Given the description of an element on the screen output the (x, y) to click on. 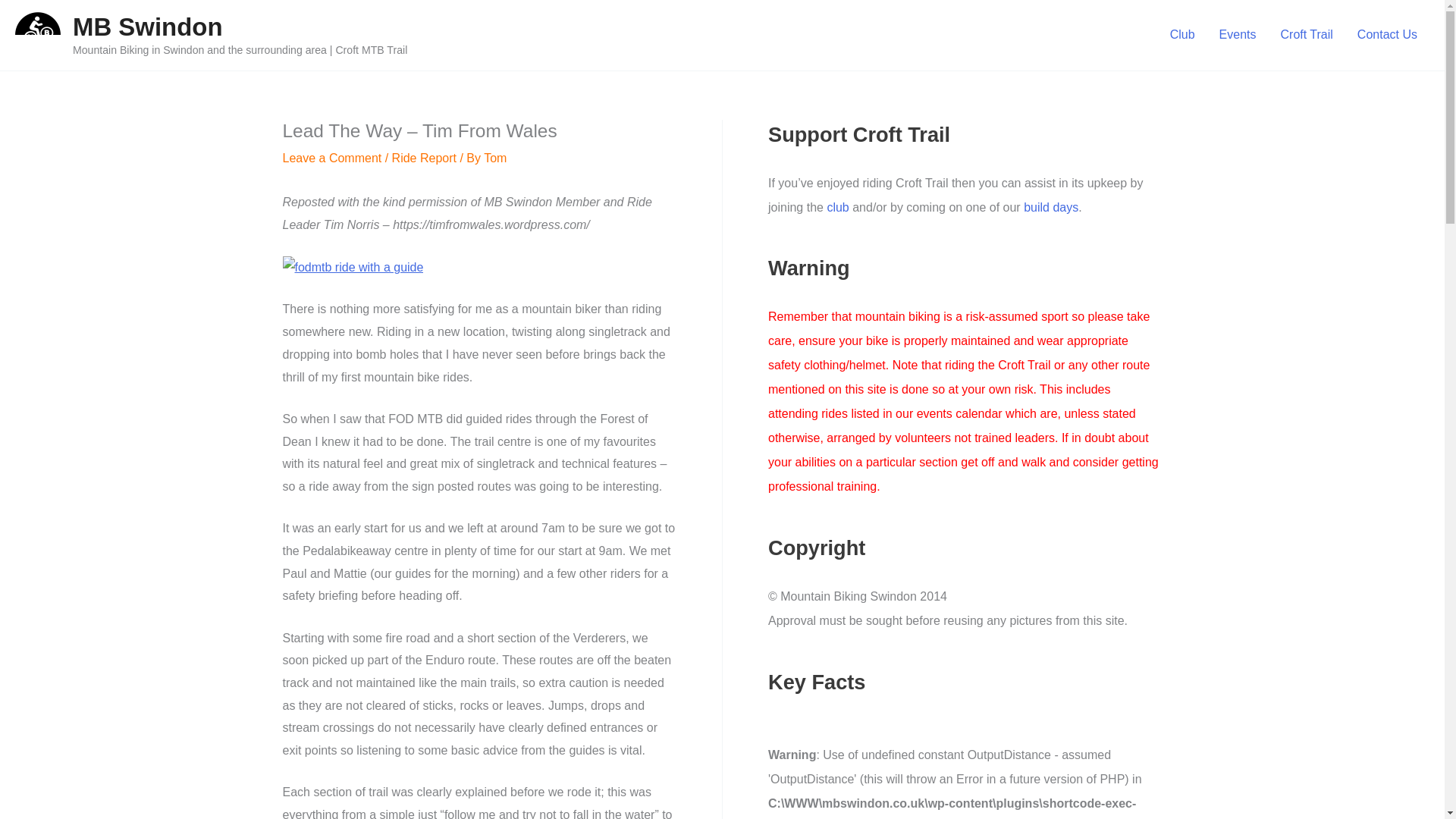
Leave a Comment (331, 157)
Contact Us (1387, 34)
Croft Trail (1306, 34)
Ride Report (424, 157)
MB Swindon (147, 26)
View all posts by Tom (494, 157)
Events (1237, 34)
